Given the description of an element on the screen output the (x, y) to click on. 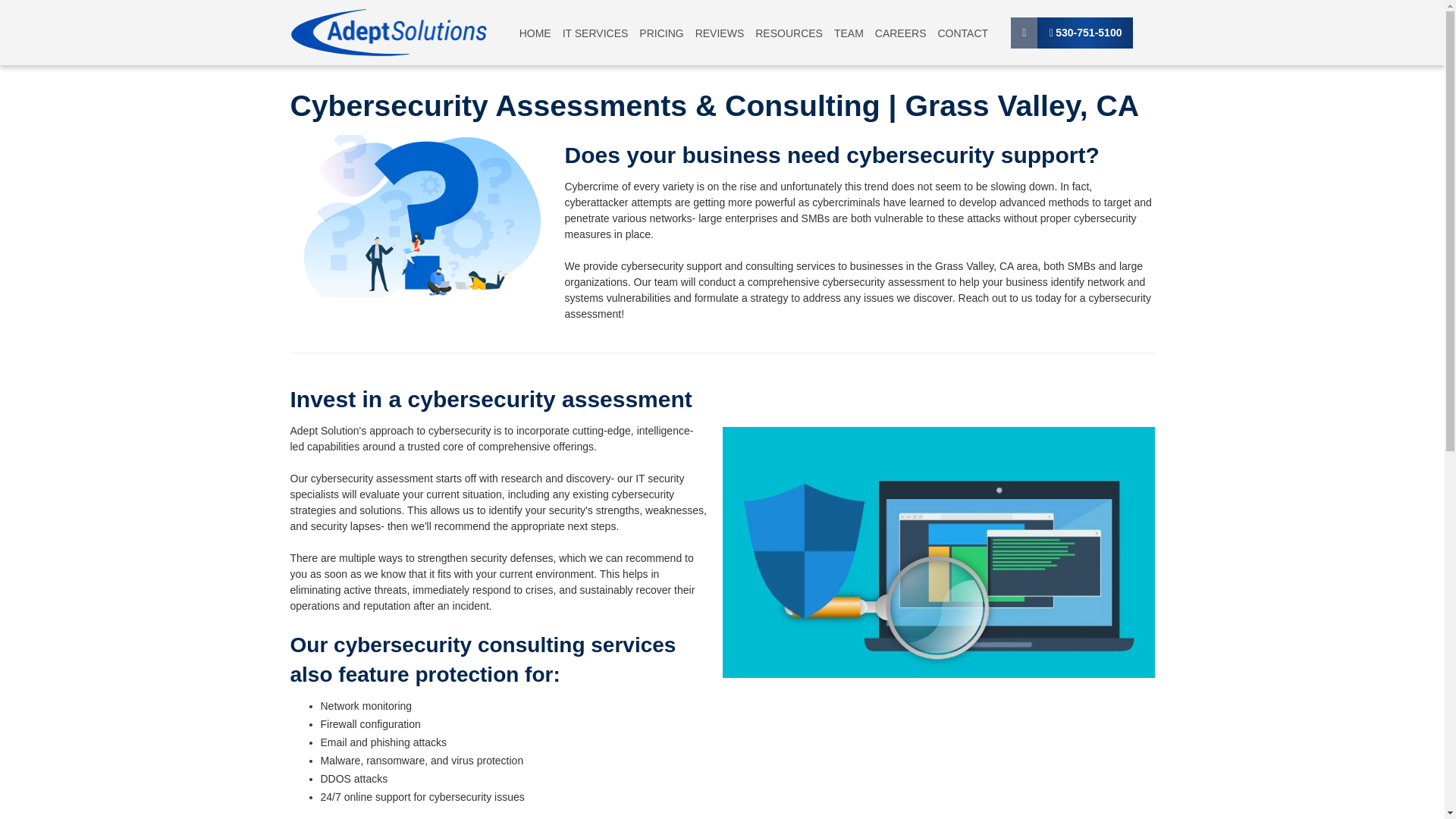
HOME (535, 33)
TEAM (848, 33)
530-751-5100 (1084, 31)
RESOURCES (788, 33)
CAREERS (900, 33)
REVIEWS (719, 33)
IT SERVICES (595, 33)
PRICING (660, 33)
CONTACT (962, 33)
